Given the description of an element on the screen output the (x, y) to click on. 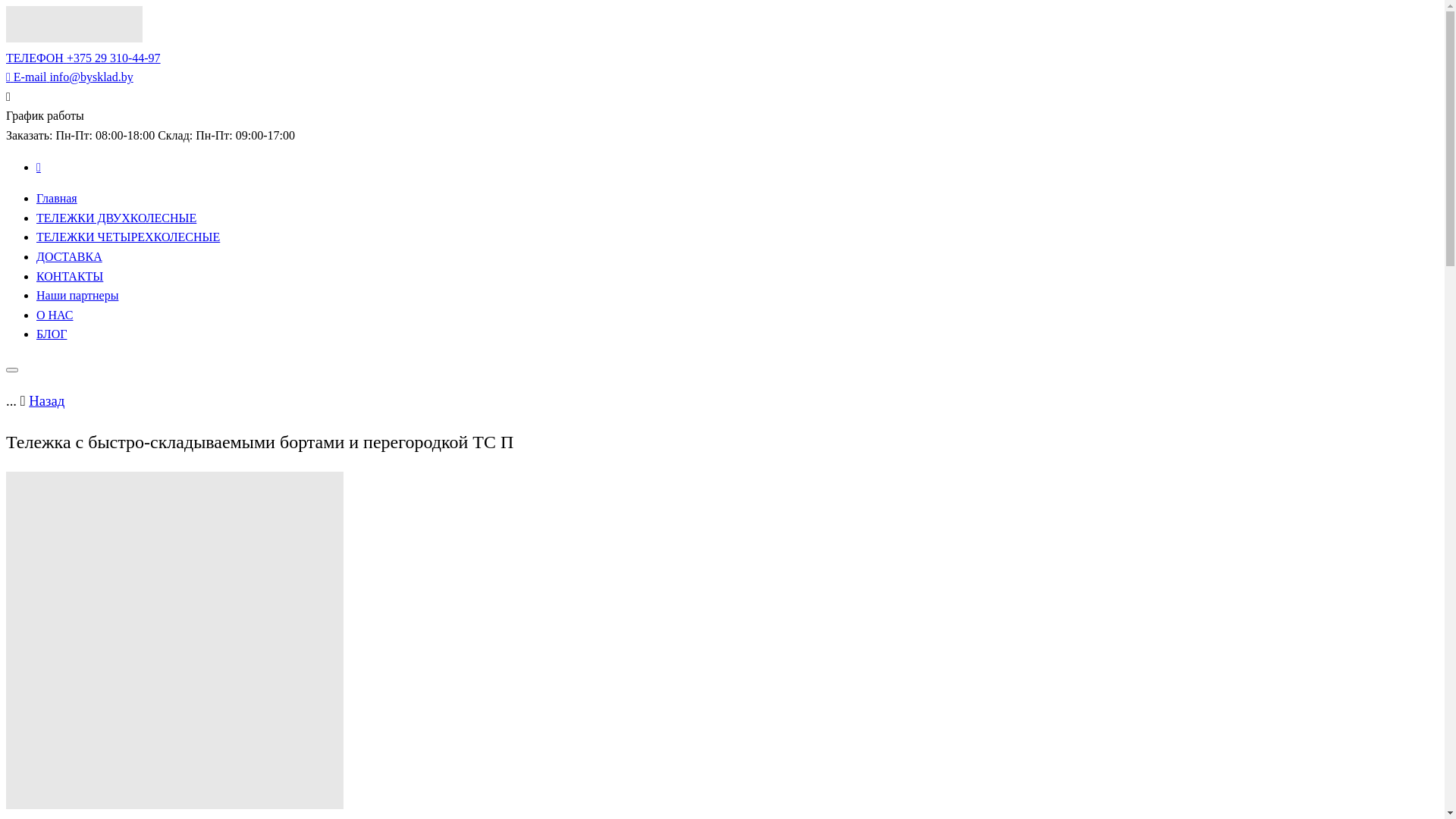
E-mail info@bysklad.by Element type: text (69, 76)
